Given the description of an element on the screen output the (x, y) to click on. 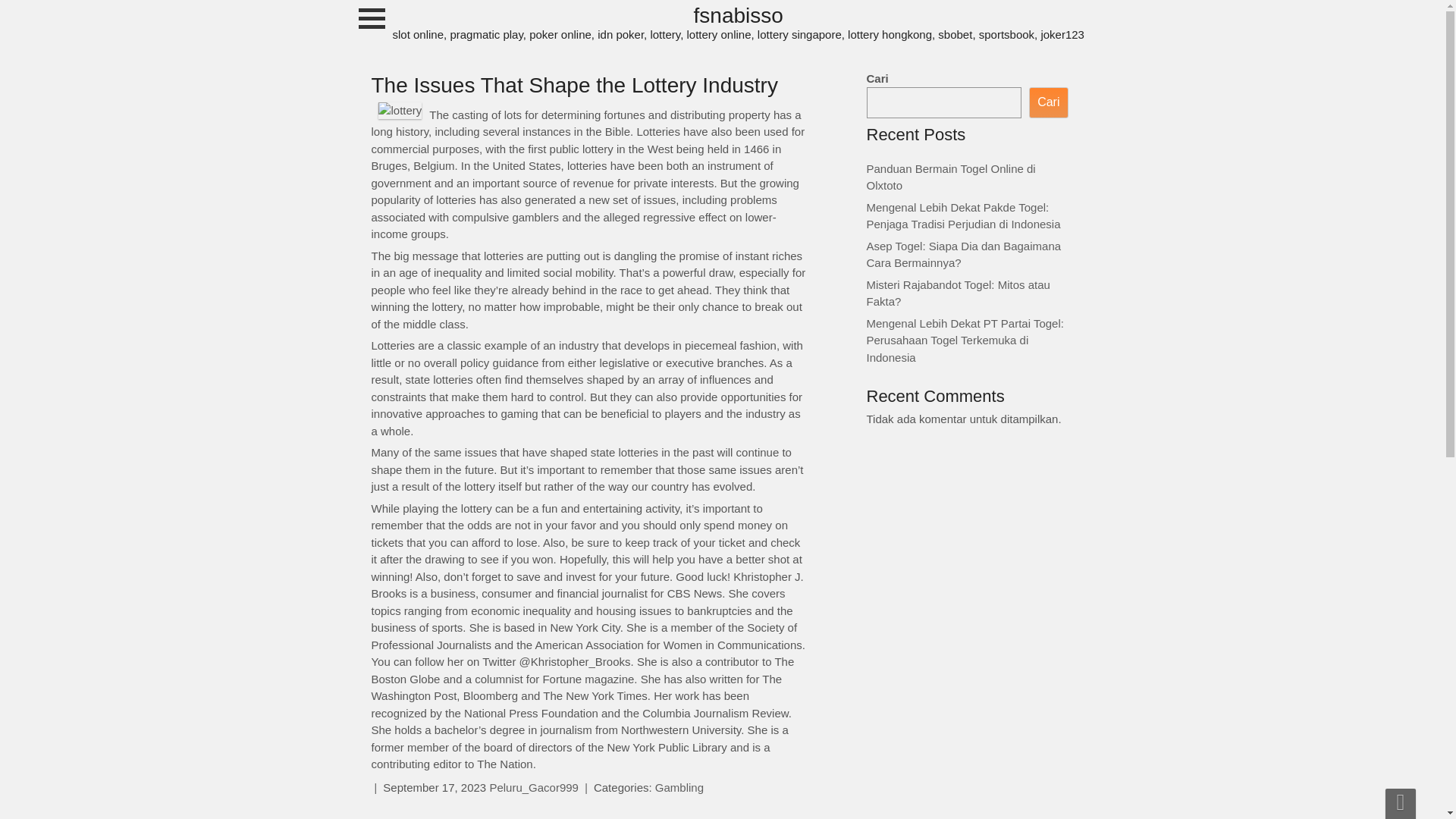
Misteri Rajabandot Togel: Mitos atau Fakta? (957, 292)
SBOBET88 (3, 113)
Gambling (679, 787)
Keluaran HK (3, 16)
Asep Togel: Siapa Dia dan Bagaimana Cara Bermainnya? (963, 254)
SBOBET (3, 176)
SBOBET88 (3, 144)
Previous Post: What You Should Know About Slot Online (464, 817)
Panduan Bermain Togel Online di Olxtoto (950, 177)
Next Post: Advantages of Playing Poker Online (711, 817)
Togel Hongkong (3, 80)
fsnabisso (738, 22)
Pengeluaran SDY (3, 47)
